Given the description of an element on the screen output the (x, y) to click on. 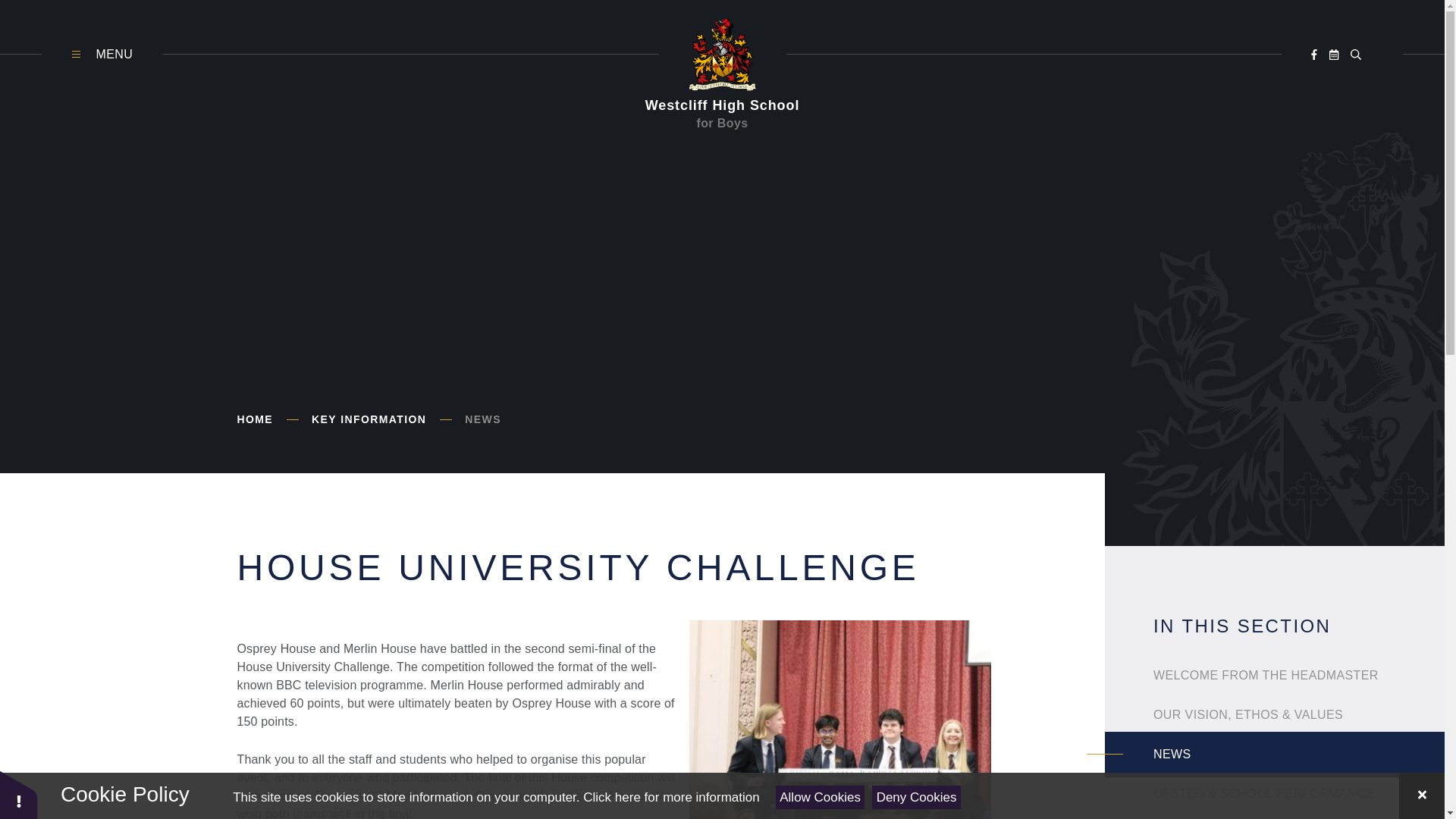
See cookie policy (670, 797)
MENU (101, 54)
Allow Cookies (820, 797)
Deny Cookies (915, 797)
